Given the description of an element on the screen output the (x, y) to click on. 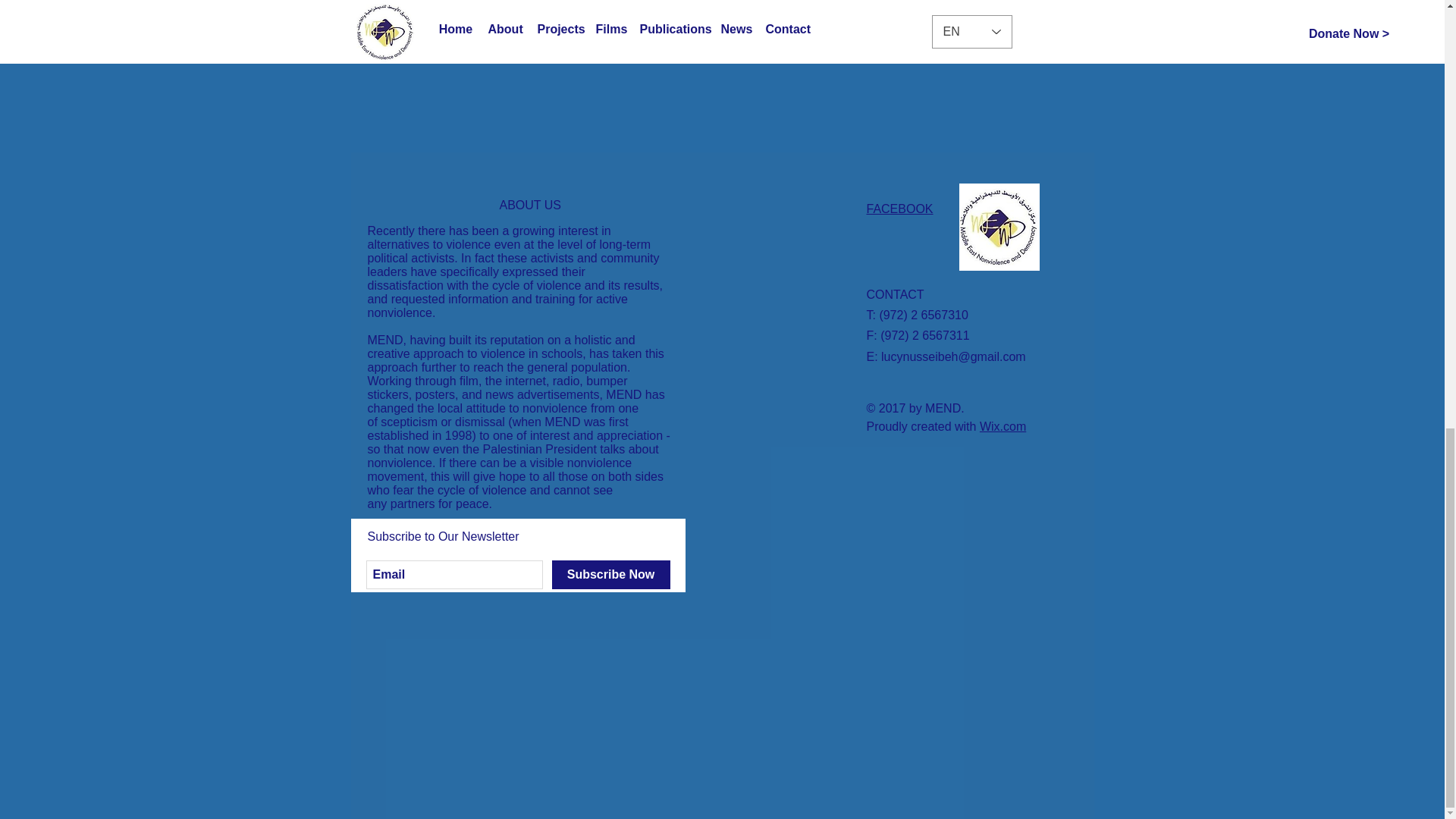
FACEBOOK (899, 208)
Subscribe Now (610, 574)
External YouTube (535, 76)
External YouTube (918, 76)
Wix.com (1002, 426)
